Given the description of an element on the screen output the (x, y) to click on. 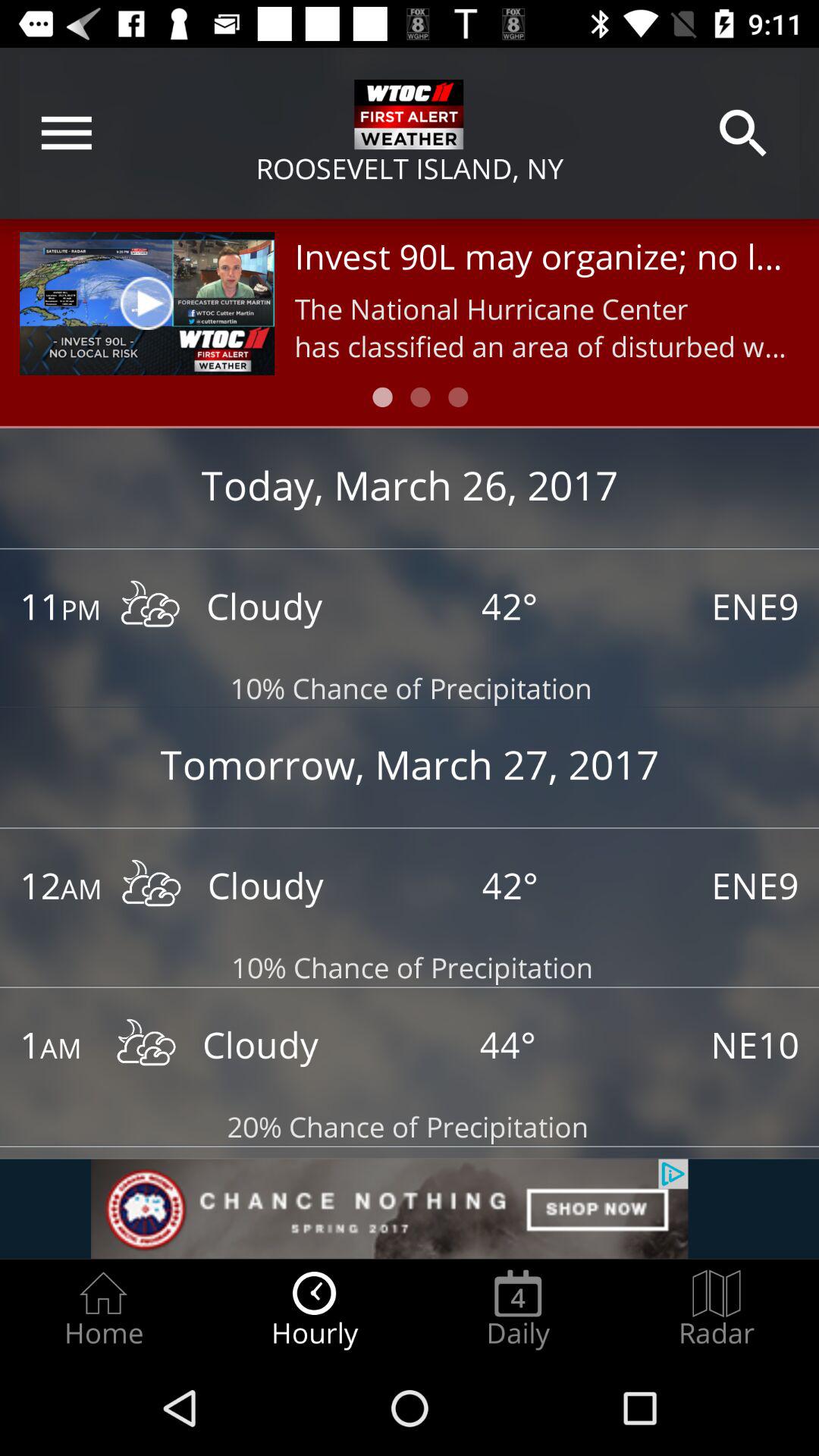
click the item next to the hourly radio button (103, 1309)
